Given the description of an element on the screen output the (x, y) to click on. 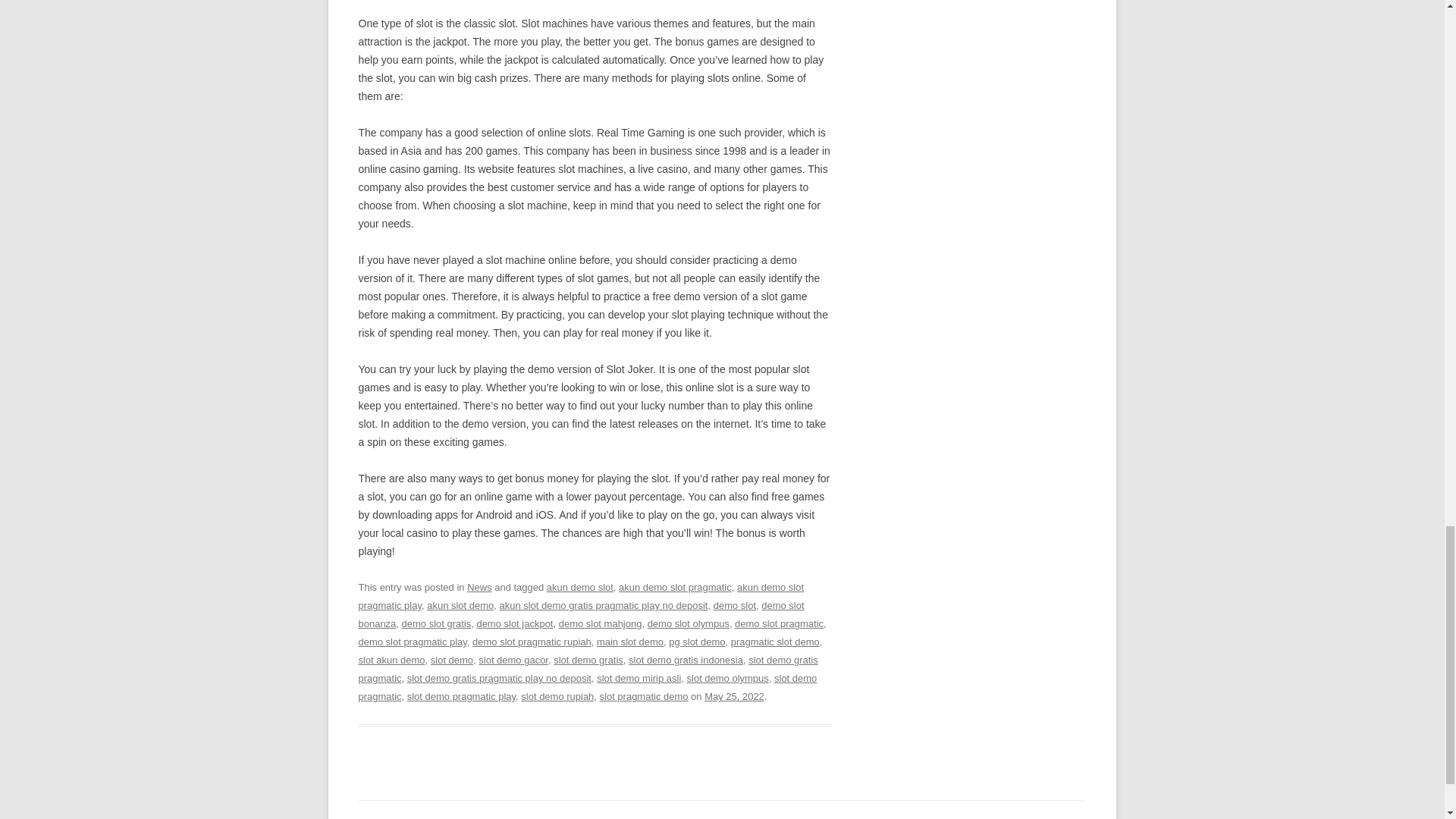
News (479, 586)
akun demo slot pragmatic play (580, 595)
akun demo slot pragmatic (675, 586)
demo slot (734, 604)
2:47 am (734, 696)
akun slot demo (459, 604)
akun slot demo gratis pragmatic play no deposit (603, 604)
akun demo slot (579, 586)
